Given the description of an element on the screen output the (x, y) to click on. 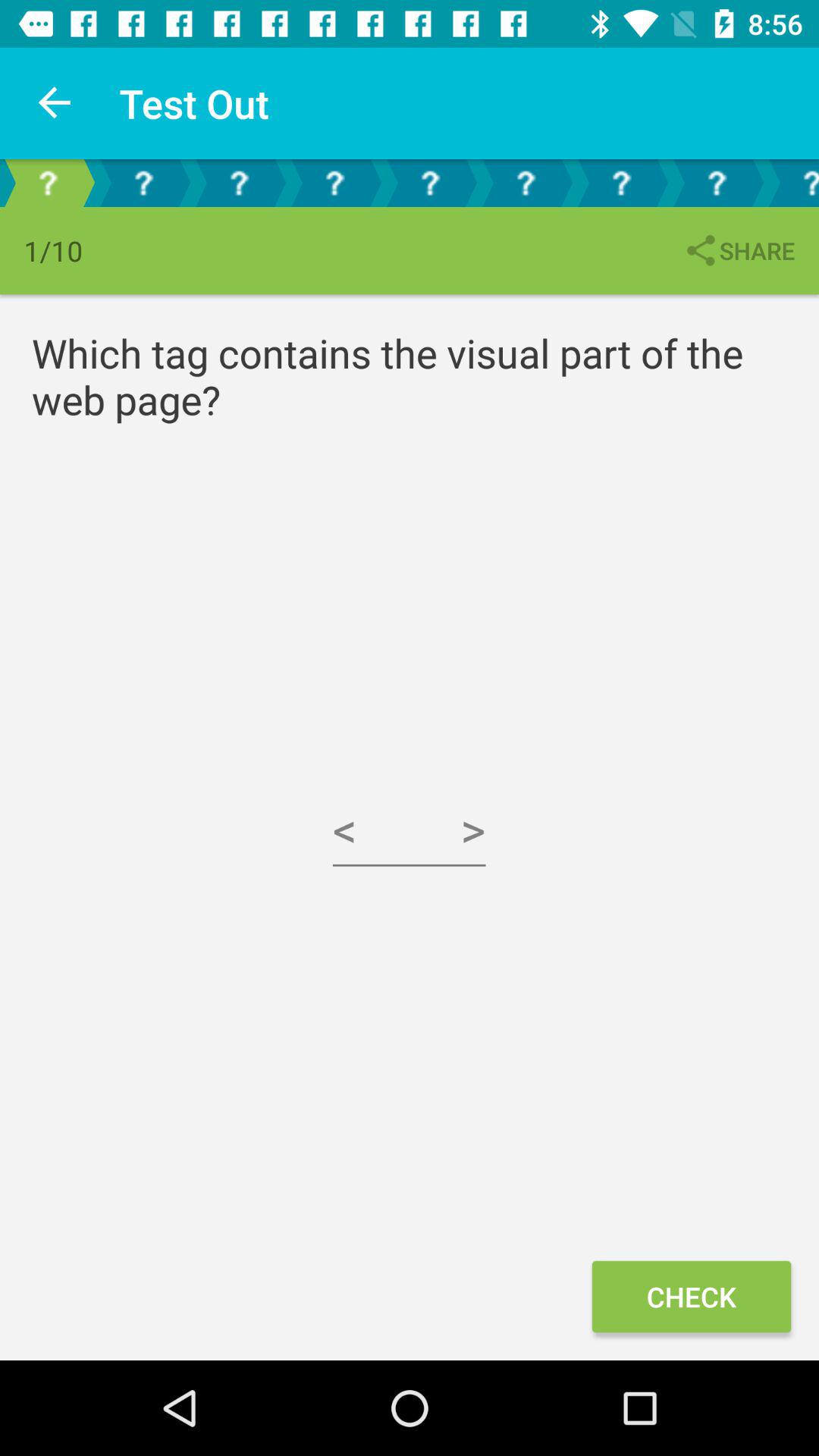
fourth test section (334, 183)
